Given the description of an element on the screen output the (x, y) to click on. 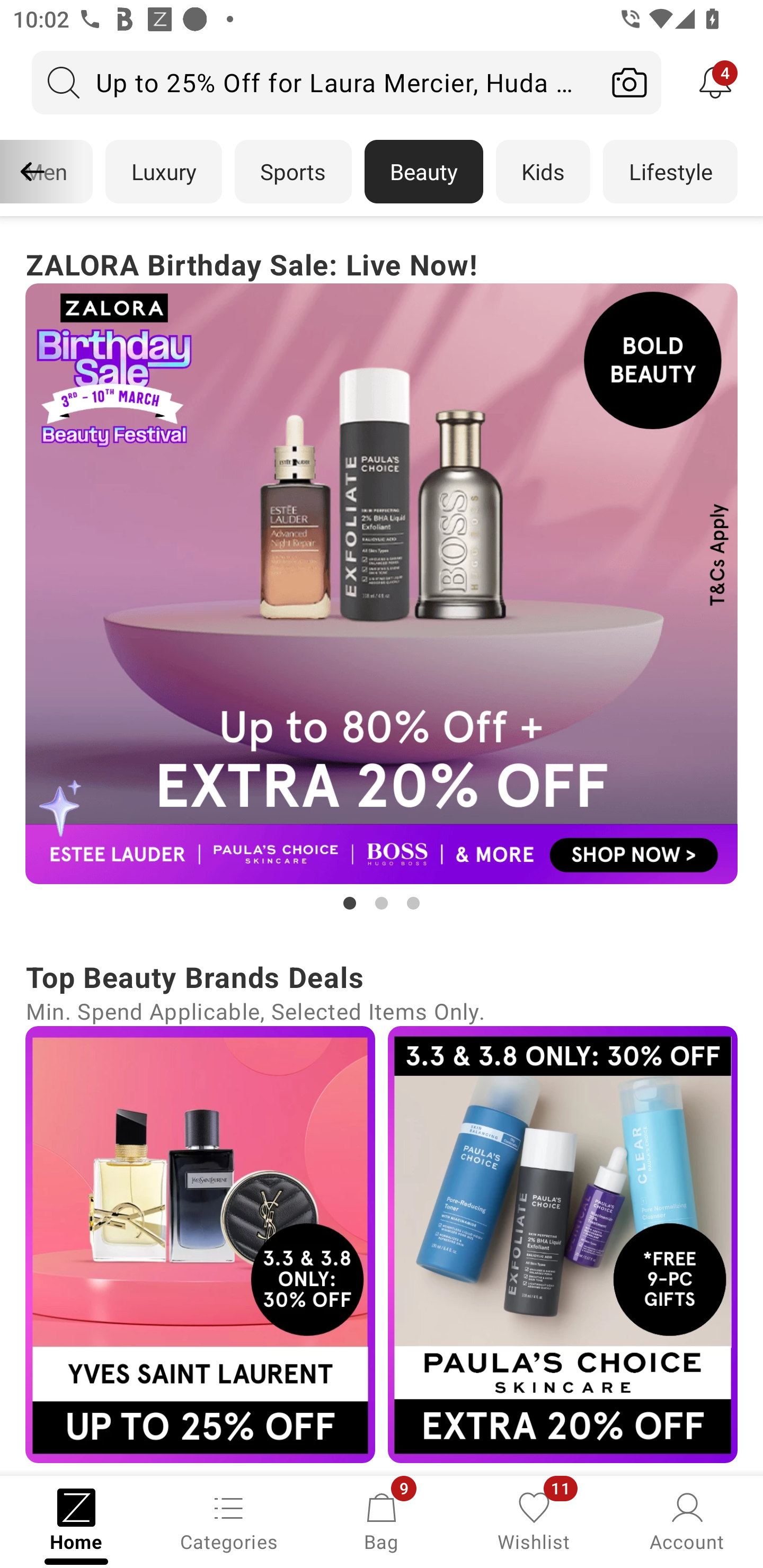
Luxury (163, 171)
Sports (293, 171)
Beauty (423, 171)
Kids (542, 171)
Lifestyle (669, 171)
ZALORA Birthday Sale: Live Now!  Campaign banner (381, 578)
Campaign banner (381, 583)
Campaign banner (200, 1243)
Campaign banner (562, 1243)
Categories (228, 1519)
Bag, 9 new notifications Bag (381, 1519)
Wishlist, 11 new notifications Wishlist (533, 1519)
Account (686, 1519)
